Given the description of an element on the screen output the (x, y) to click on. 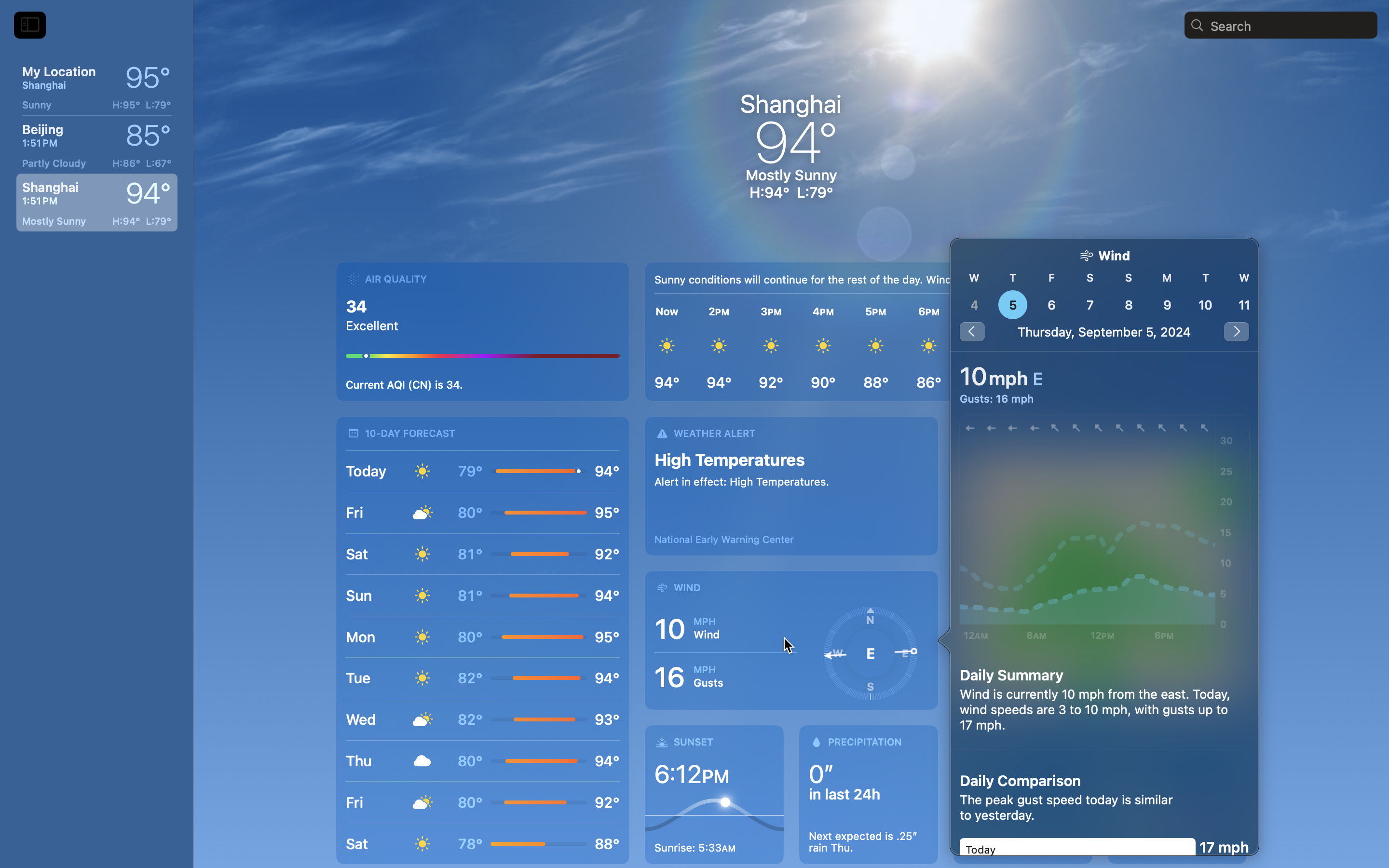
nan Element type: AXSlider (1104, 295)
